Given the description of an element on the screen output the (x, y) to click on. 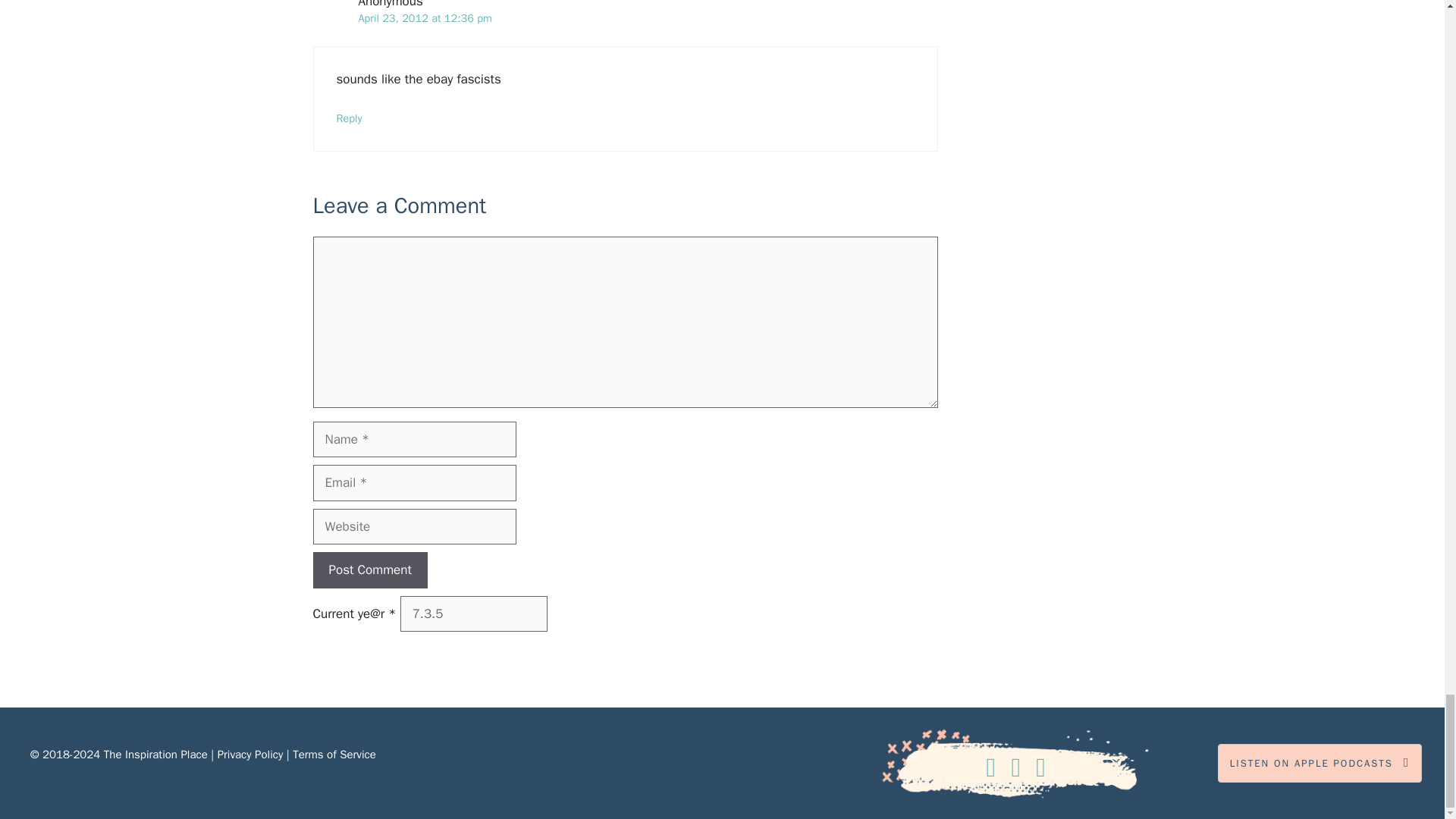
Post Comment (369, 570)
7.3.5 (473, 614)
